Given the description of an element on the screen output the (x, y) to click on. 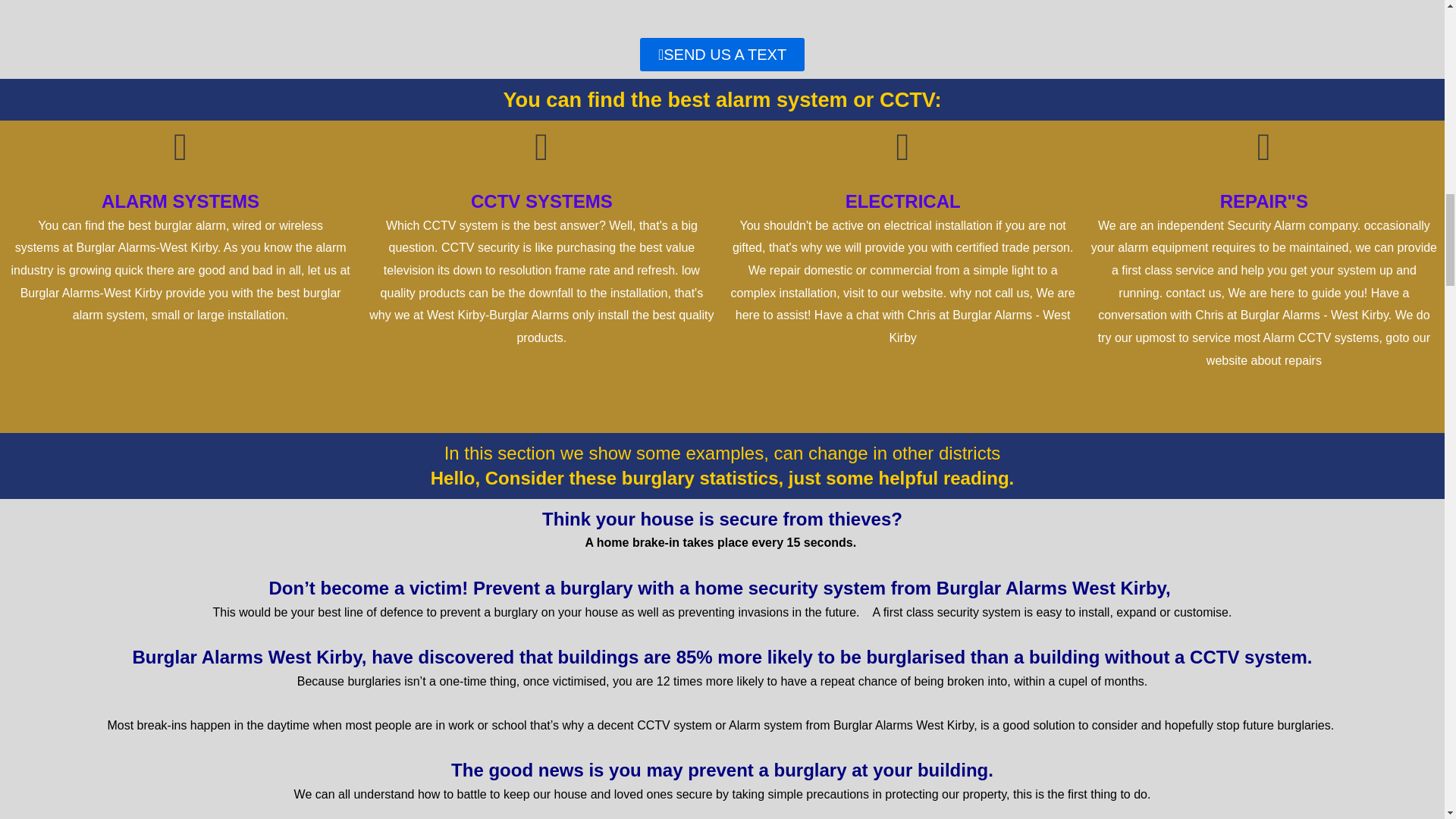
SEND US A TEXT (722, 54)
REPAIR"S (1263, 200)
ALARM SYSTEMS (180, 200)
ELECTRICAL (902, 200)
CCTV SYSTEMS (541, 200)
